Given the description of an element on the screen output the (x, y) to click on. 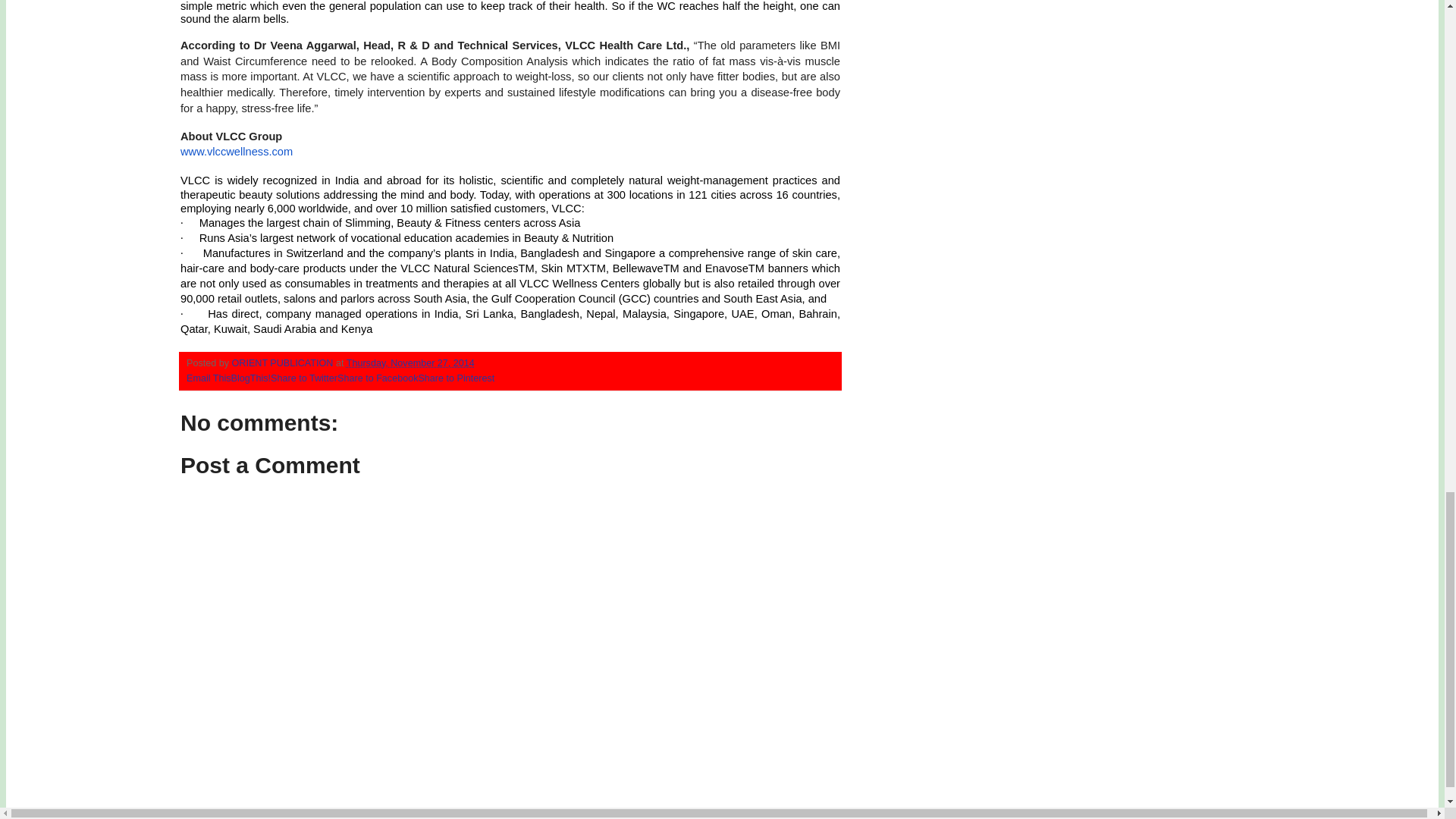
Share to Facebook (377, 378)
Share to Facebook (377, 378)
Thursday, November 27, 2014 (410, 362)
BlogThis! (250, 378)
Share to Twitter (303, 378)
ORIENT PUBLICATION (283, 362)
www.vlccwellness.com (236, 151)
Email This (208, 378)
permanent link (410, 362)
Share to Pinterest (456, 378)
